Given the description of an element on the screen output the (x, y) to click on. 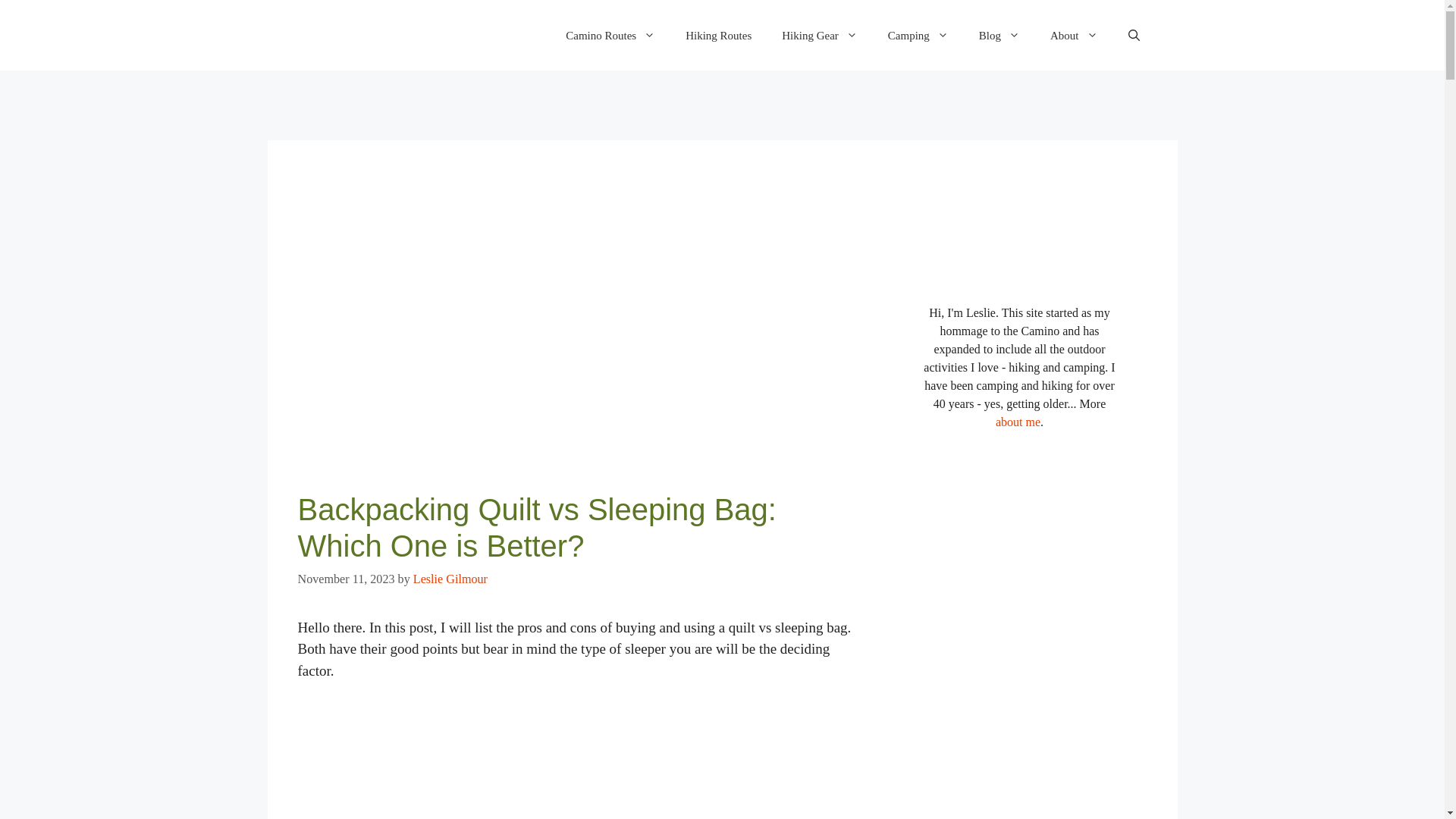
View all posts by Leslie Gilmour (450, 578)
Hiking Routes (718, 35)
Hiking Gear (819, 35)
Camino Routes (609, 35)
